Given the description of an element on the screen output the (x, y) to click on. 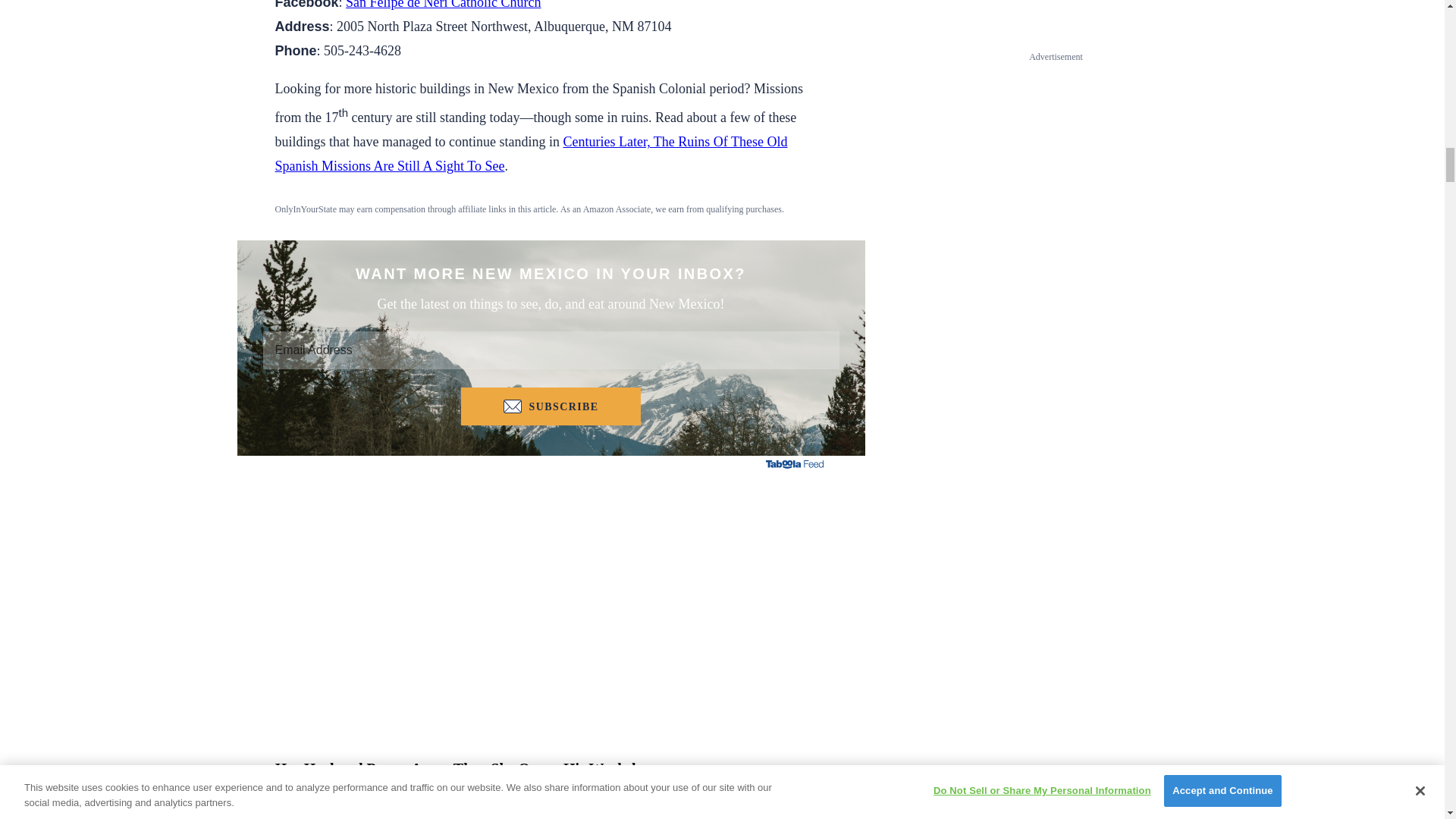
Her Husband Passes Away, Then She Opens His Workshop (551, 780)
